Given the description of an element on the screen output the (x, y) to click on. 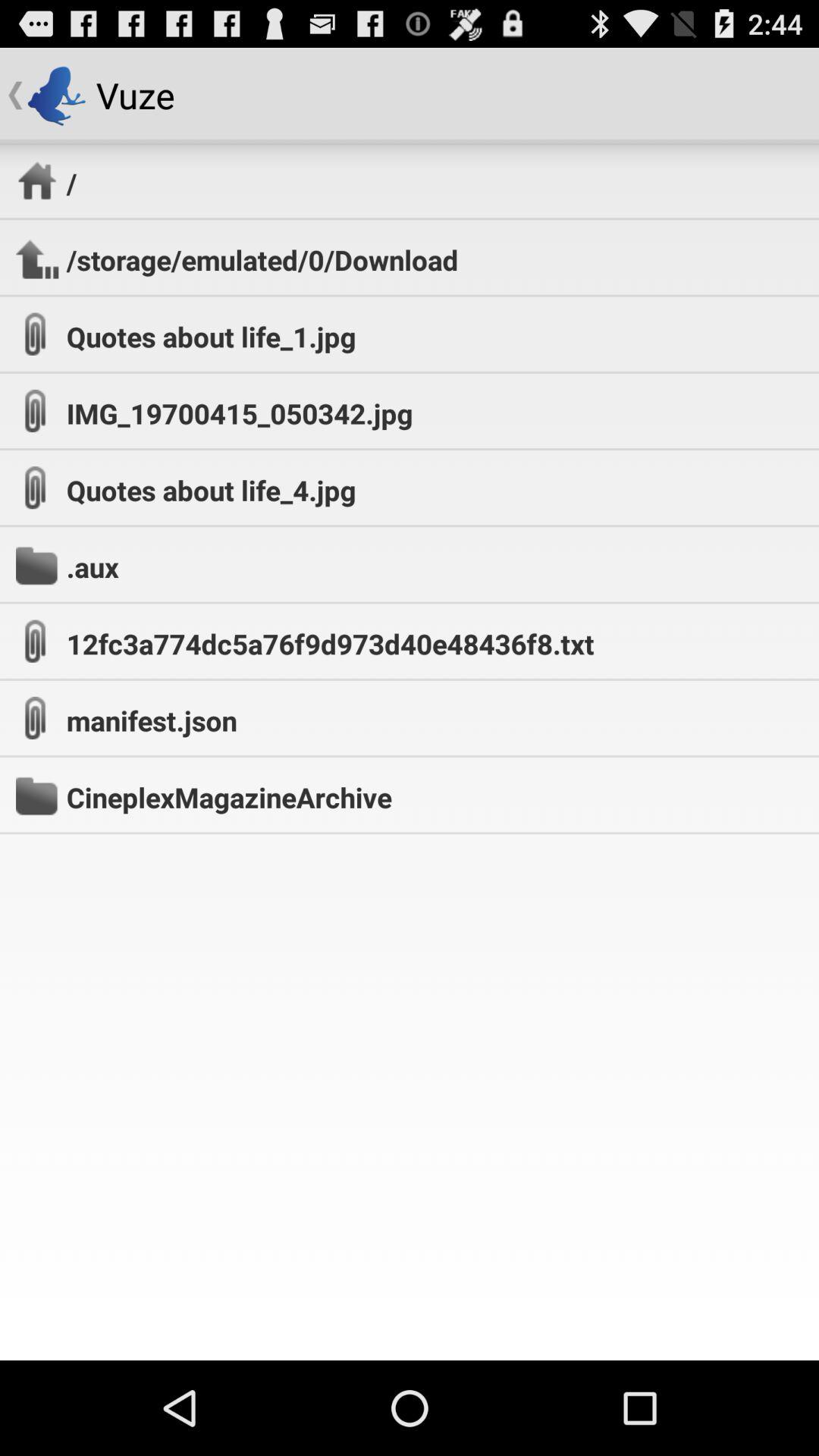
choose manifest.json (151, 720)
